Given the description of an element on the screen output the (x, y) to click on. 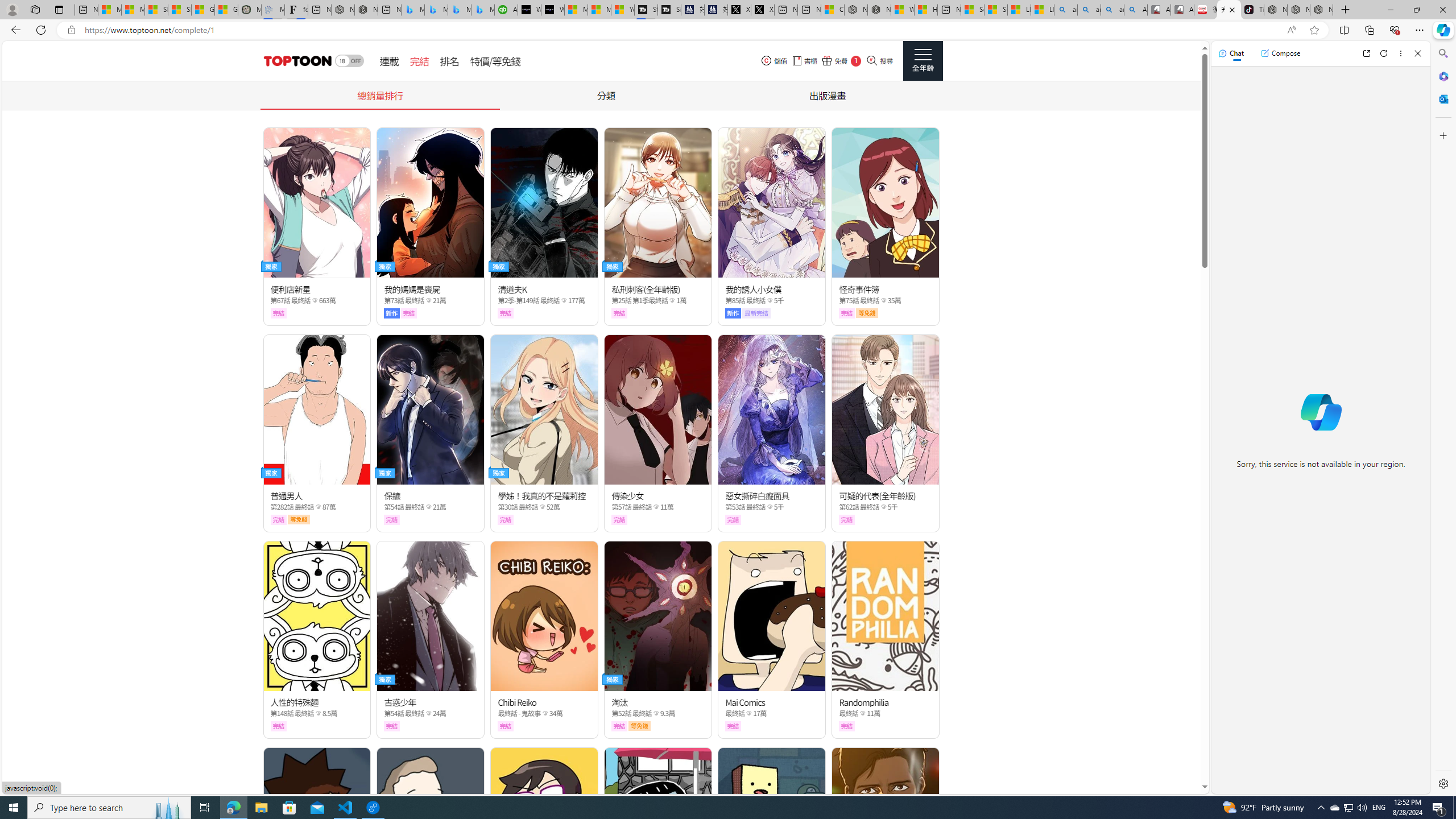
Nordace - Siena Pro 15 Essential Set (1321, 9)
